Given the description of an element on the screen output the (x, y) to click on. 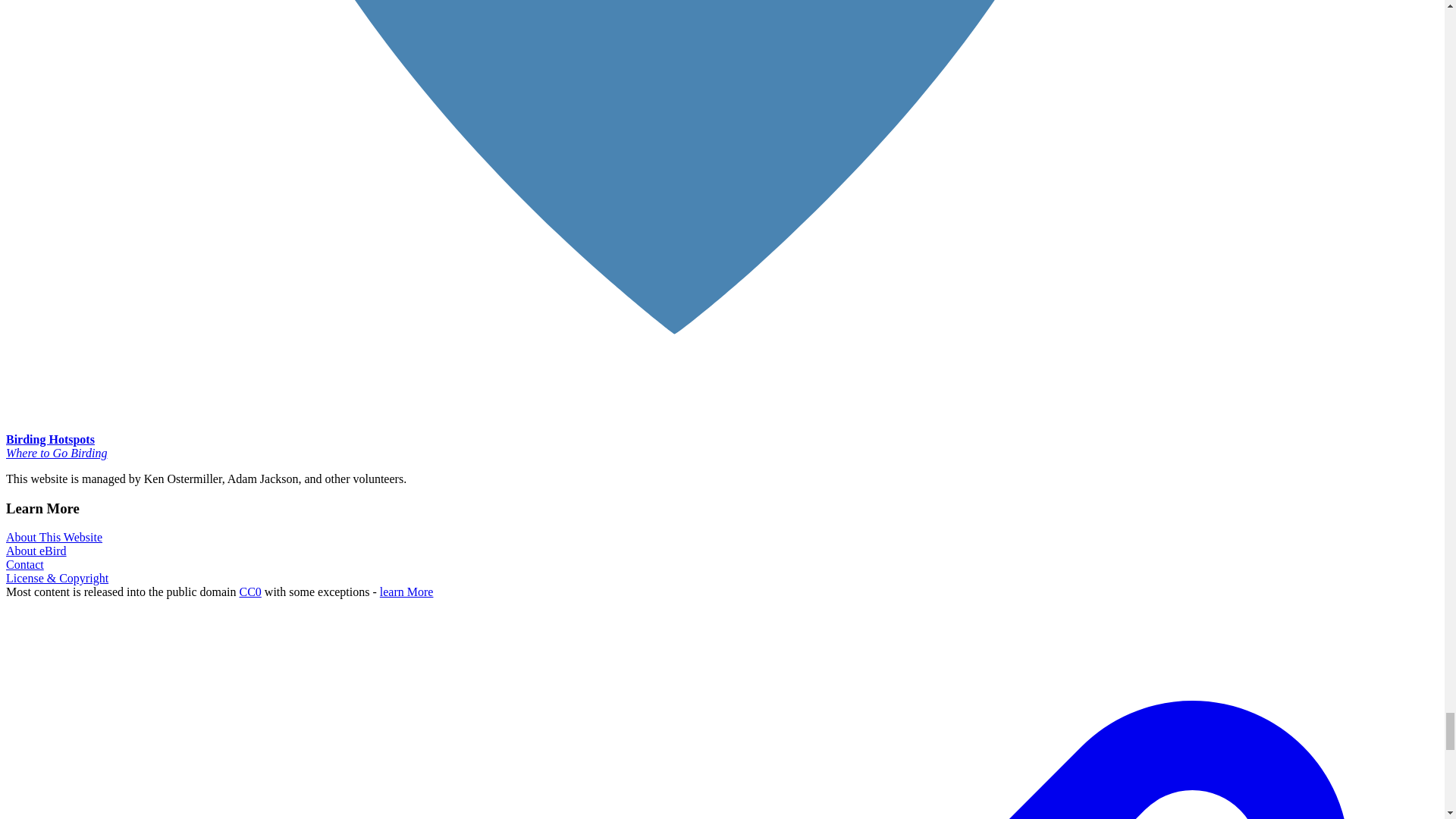
Contact (24, 563)
CC0 (251, 591)
learn More (406, 591)
About This Website (53, 536)
About eBird (35, 550)
